Given the description of an element on the screen output the (x, y) to click on. 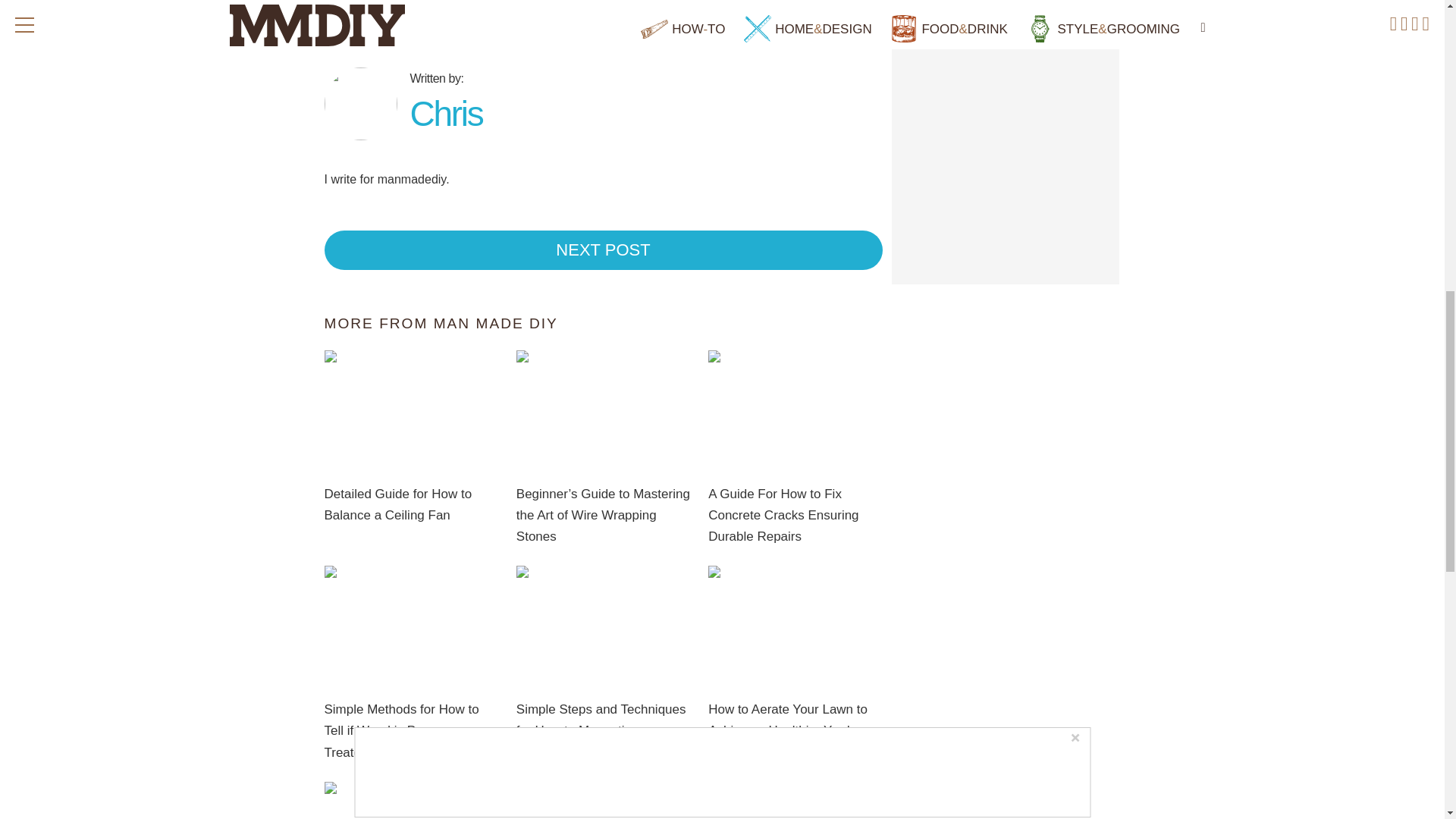
Detailed Guide for How to Balance a Ceiling Fan (397, 504)
Chris (445, 104)
NEXT POST (603, 250)
